Given the description of an element on the screen output the (x, y) to click on. 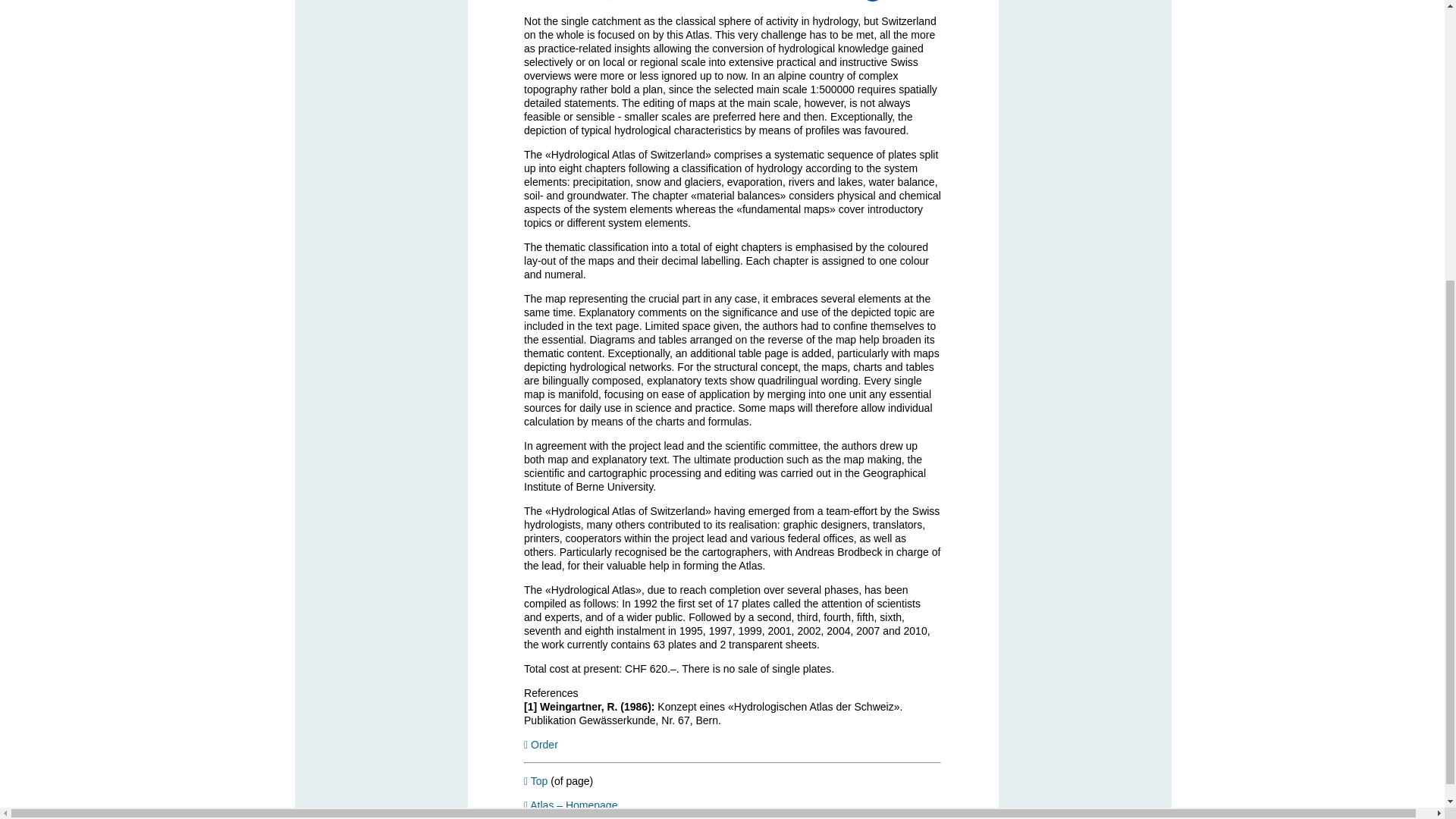
Top (535, 780)
"Link to order the Atlas" (540, 744)
